Given the description of an element on the screen output the (x, y) to click on. 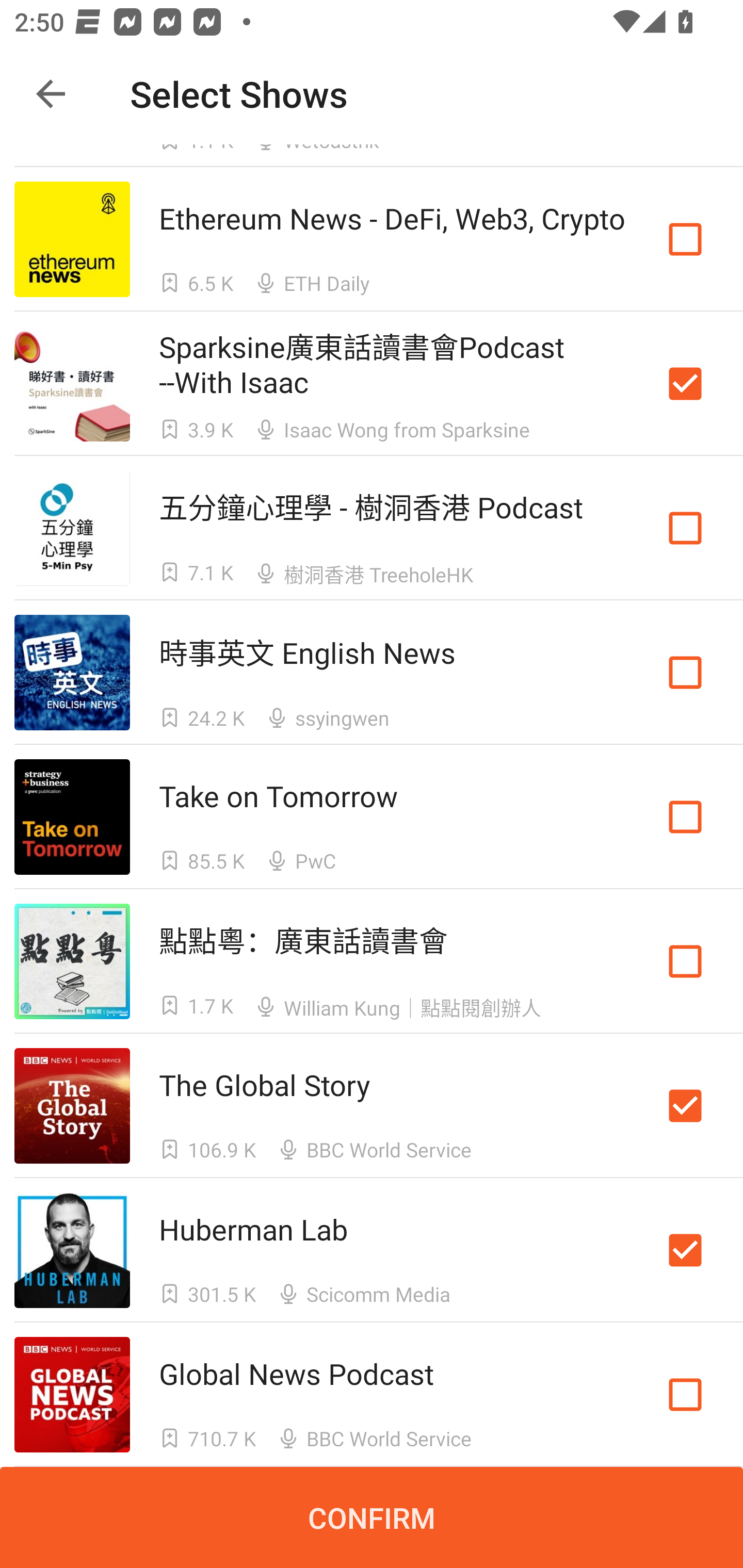
Navigate up (50, 93)
Take on Tomorrow Take on Tomorrow  85.5 K  PwC (371, 816)
CONFIRM (371, 1517)
